Given the description of an element on the screen output the (x, y) to click on. 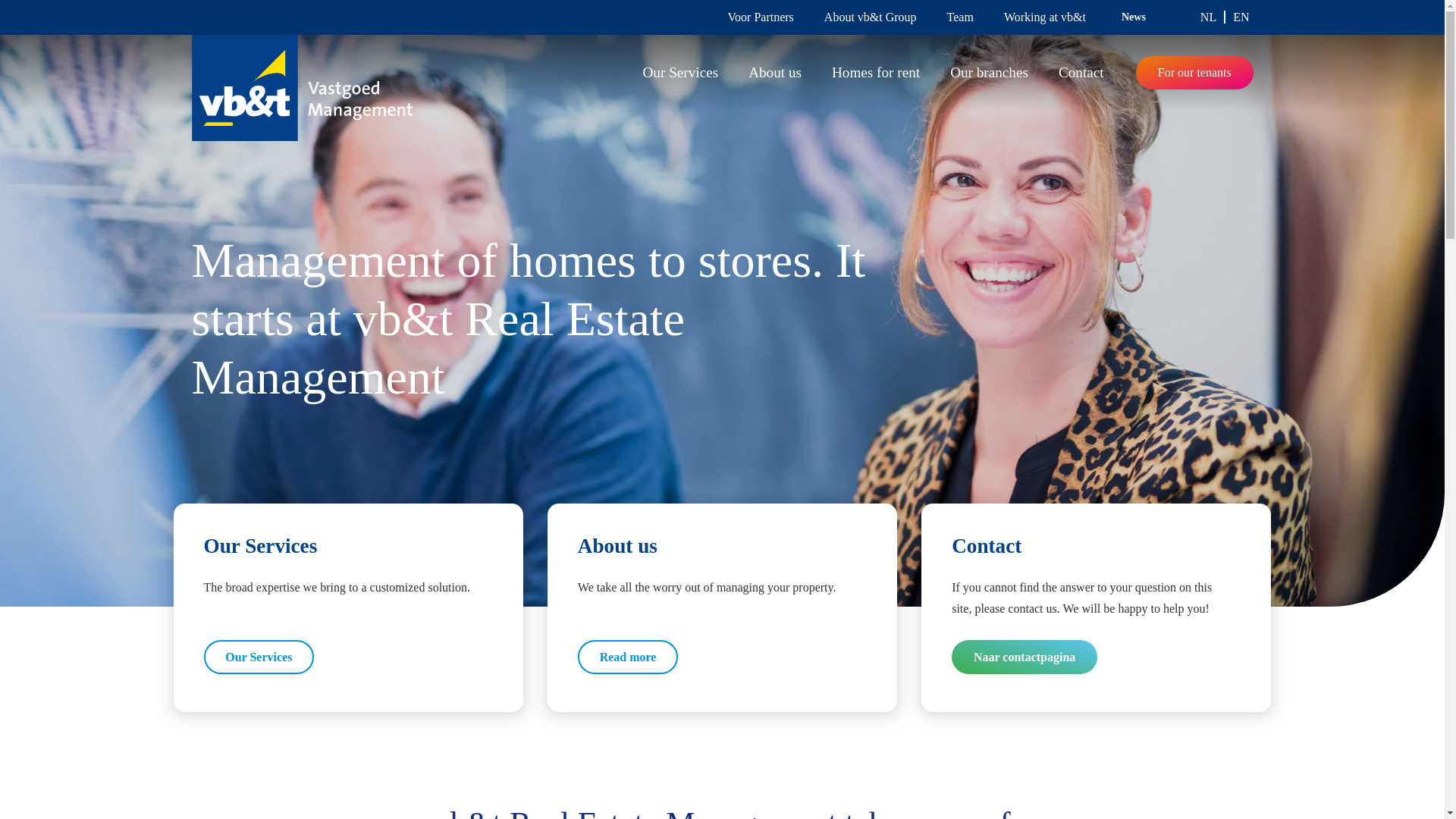
Voor Partners (760, 16)
Naar contactpagina (1024, 656)
Our Services (258, 656)
Read more (628, 656)
For our tenants (1193, 73)
Contact (1081, 72)
Our Services (680, 72)
About us (774, 72)
News (1133, 16)
NL (1212, 18)
Team (960, 16)
Our branches (988, 72)
Homes for rent (875, 72)
